Given the description of an element on the screen output the (x, y) to click on. 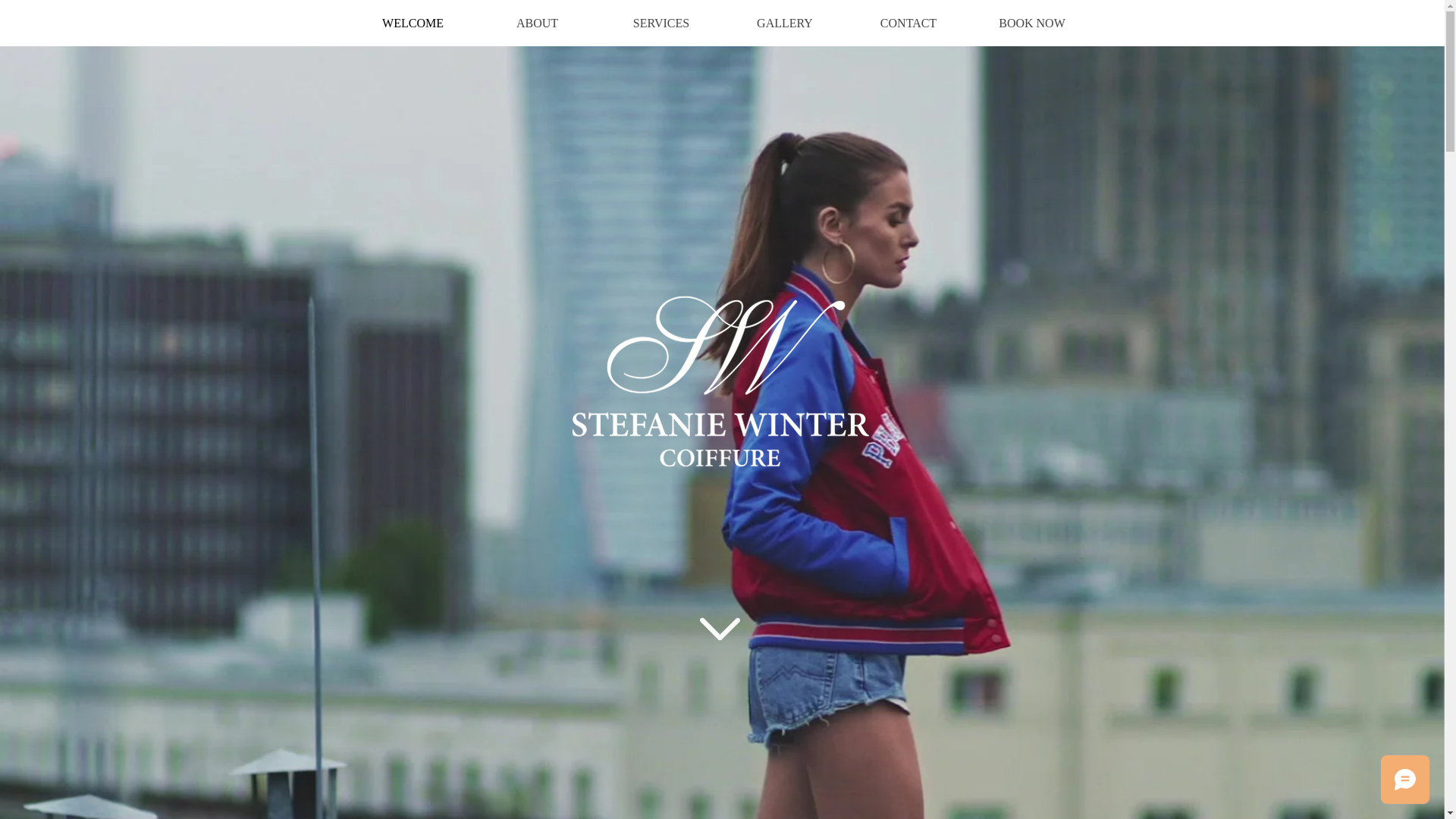
WELCOME Element type: text (412, 22)
ABOUT Element type: text (536, 22)
GALLERY Element type: text (785, 22)
SERVICES Element type: text (660, 22)
BOOK NOW Element type: text (1032, 22)
CONTACT Element type: text (907, 22)
